Given the description of an element on the screen output the (x, y) to click on. 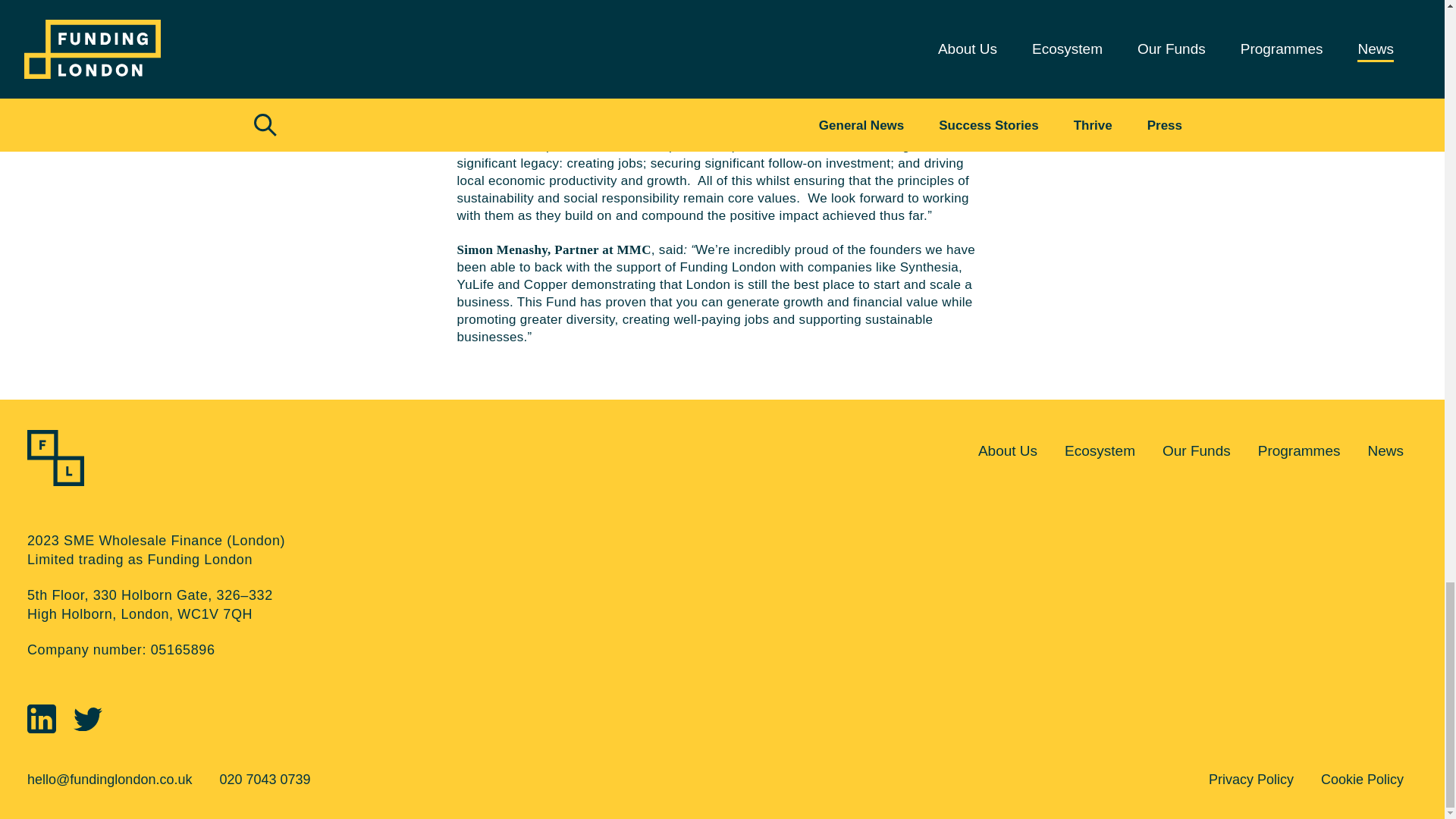
Programmes (1299, 451)
About Us (1008, 451)
Ecosystem (1099, 451)
News (1384, 451)
020 7043 0739 (264, 779)
Our Funds (1196, 451)
Privacy Policy (1254, 779)
Cookie Policy (1361, 779)
